Given the description of an element on the screen output the (x, y) to click on. 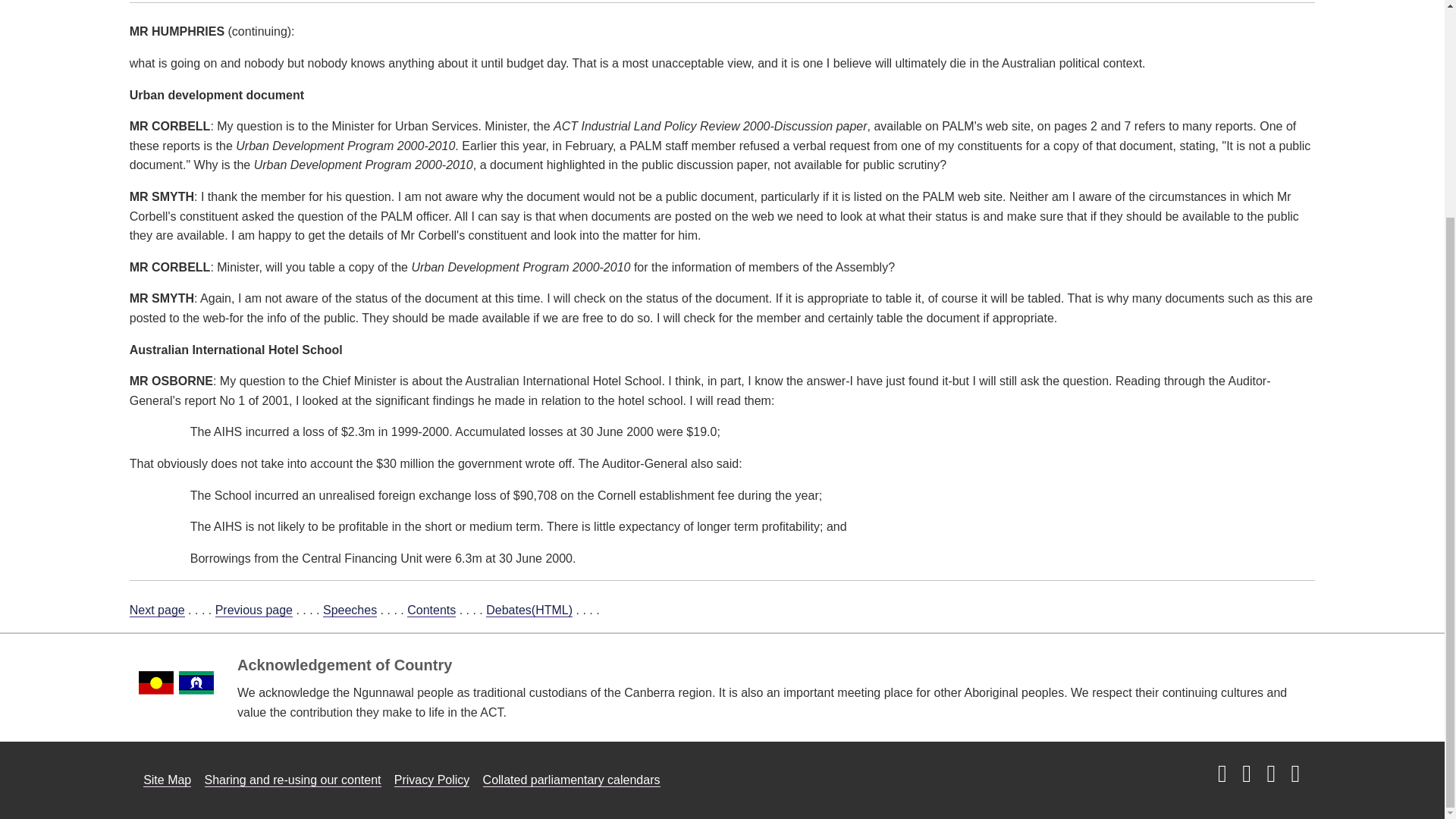
Sharing and re-using our content (293, 780)
Speeches (350, 610)
Link to Privacy Policy (432, 780)
Collated parliamentary calendars (572, 780)
Previous page (253, 610)
Next page (156, 610)
Link to Sharing and re-using our content (293, 780)
Privacy Policy (432, 780)
Link to Site Map (166, 780)
Collated parliamentary calendars (572, 780)
Site Map (166, 780)
Contents (431, 610)
